Given the description of an element on the screen output the (x, y) to click on. 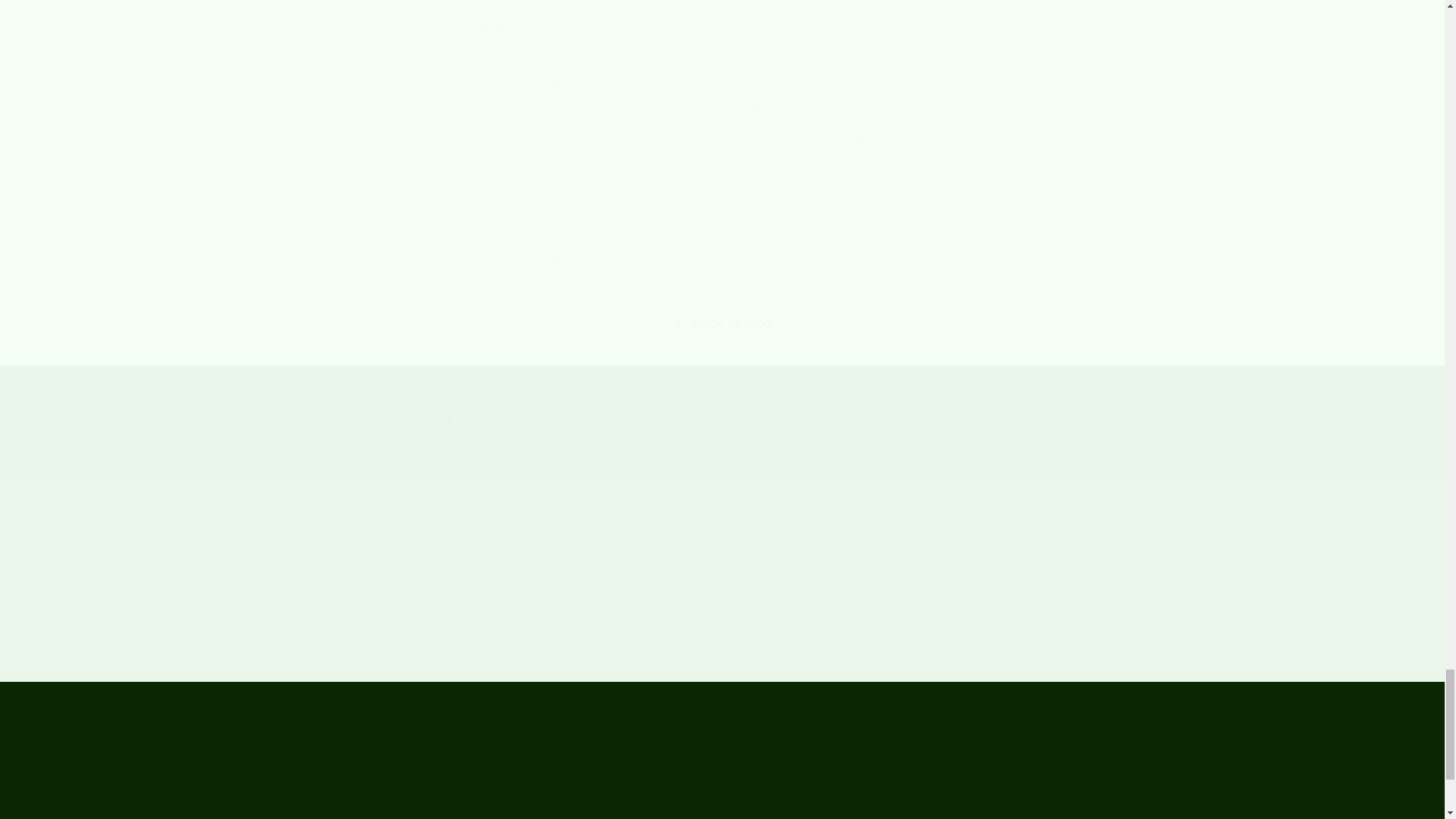
women's best- gruns (810, 105)
Post comment (510, 650)
women's best- gruns (569, 183)
Post comment (510, 650)
reviews (499, 802)
women's best- gruns (718, 249)
